Given the description of an element on the screen output the (x, y) to click on. 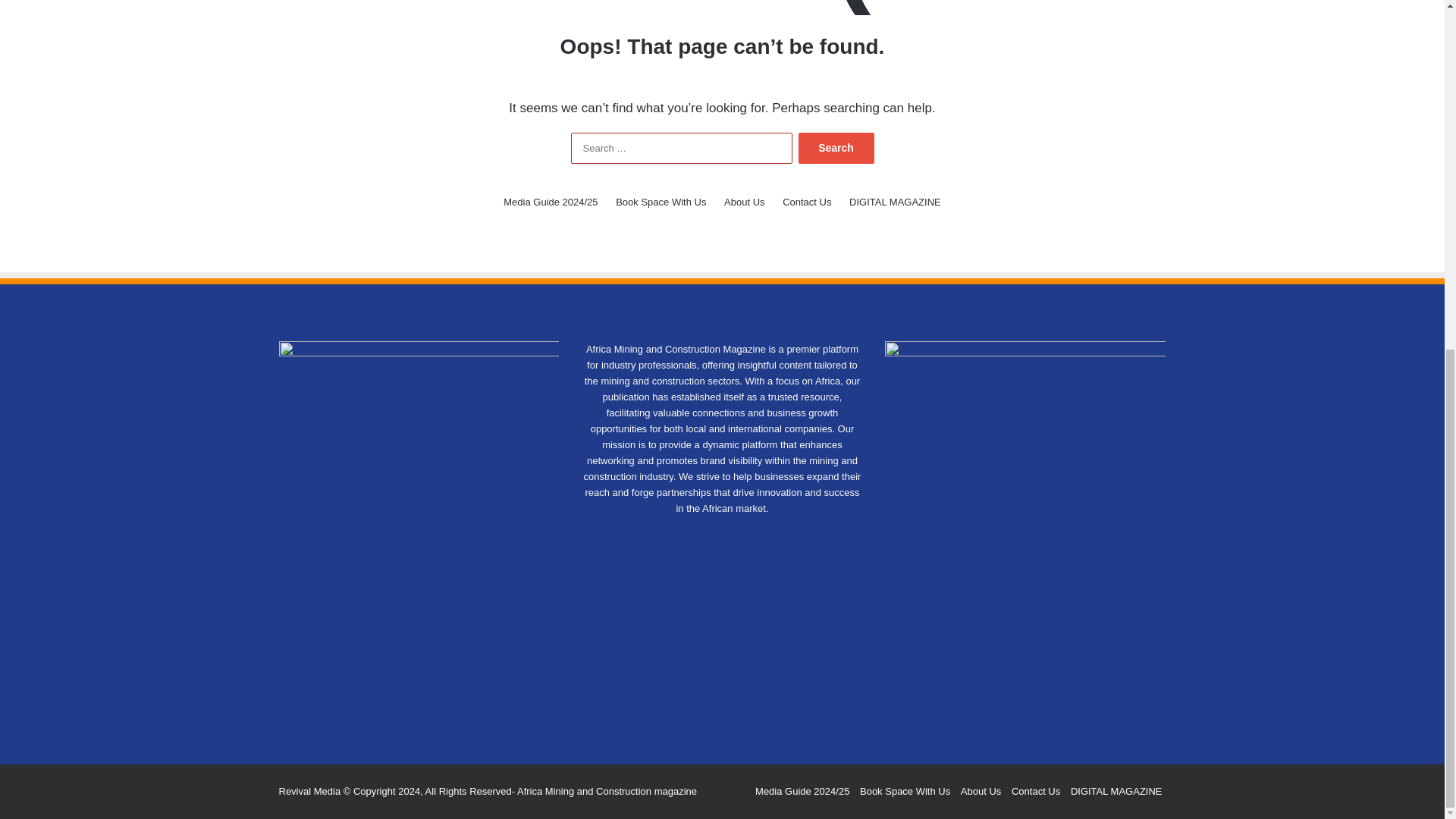
Facebook (685, 536)
Book Space With Us (660, 201)
DIGITAL MAGAZINE (894, 201)
Search (835, 147)
X (703, 536)
Contact Us (807, 201)
About Us (743, 201)
LinkedIn (721, 536)
Search (835, 147)
Search (835, 147)
